Given the description of an element on the screen output the (x, y) to click on. 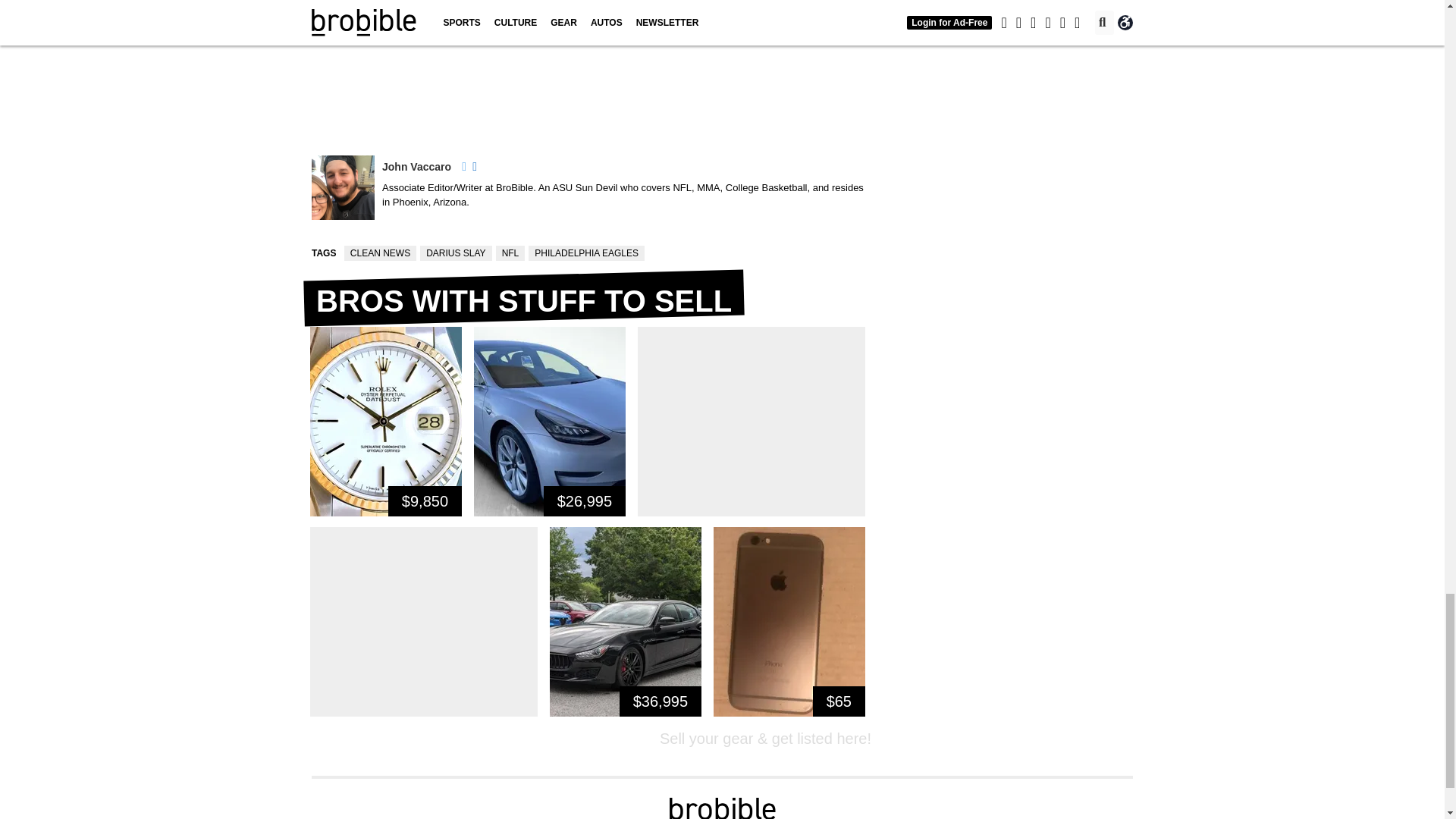
Posts by John Vaccaro (416, 166)
